Given the description of an element on the screen output the (x, y) to click on. 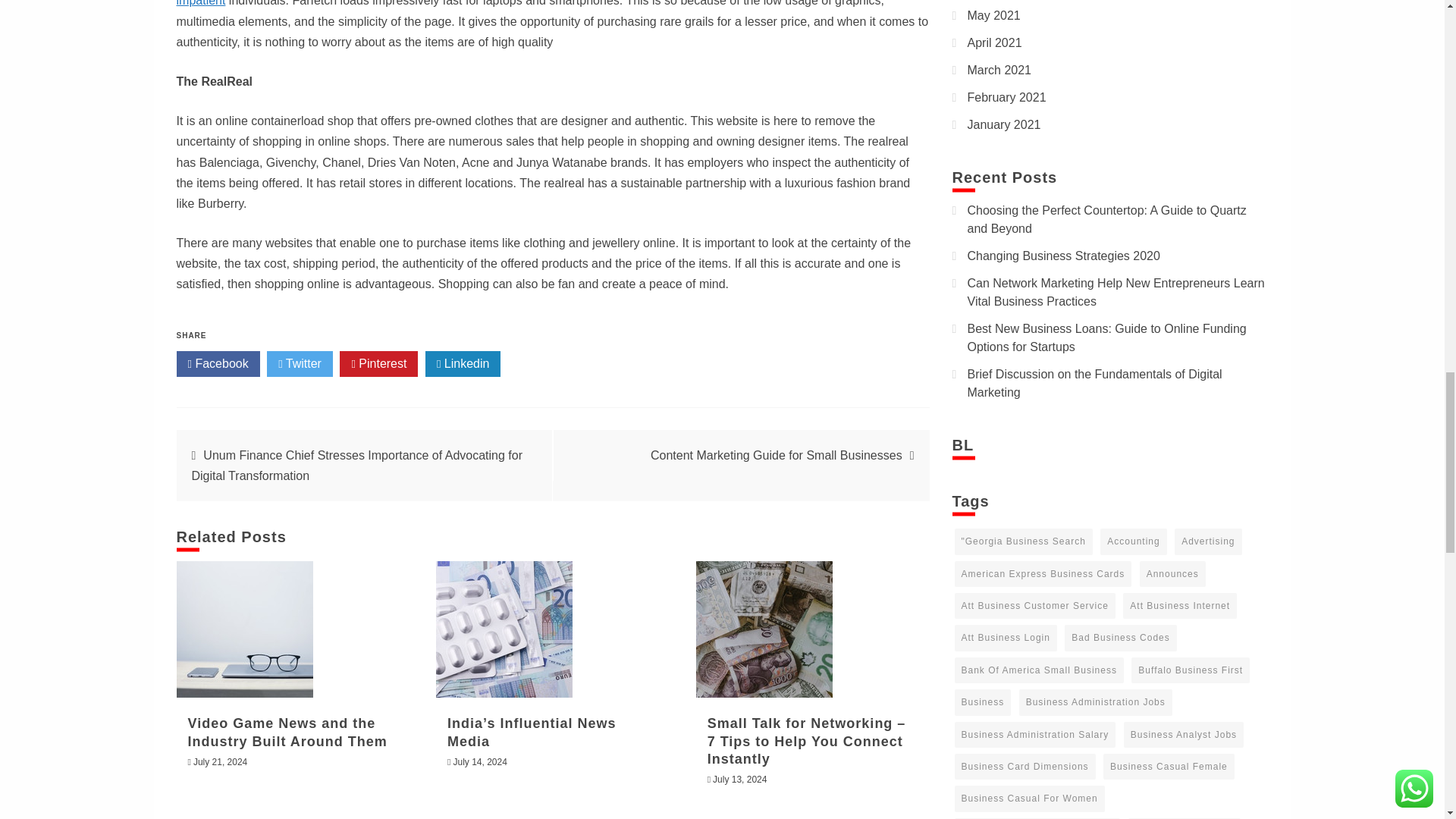
Video Game News and the Industry Built Around Them (287, 731)
Twitter (299, 363)
Pinterest (378, 363)
Video Game News and the Industry Built Around Them (244, 629)
July 21, 2024 (220, 761)
Content Marketing Guide for Small Businesses (776, 454)
Facebook (217, 363)
Linkedin (462, 363)
